Given the description of an element on the screen output the (x, y) to click on. 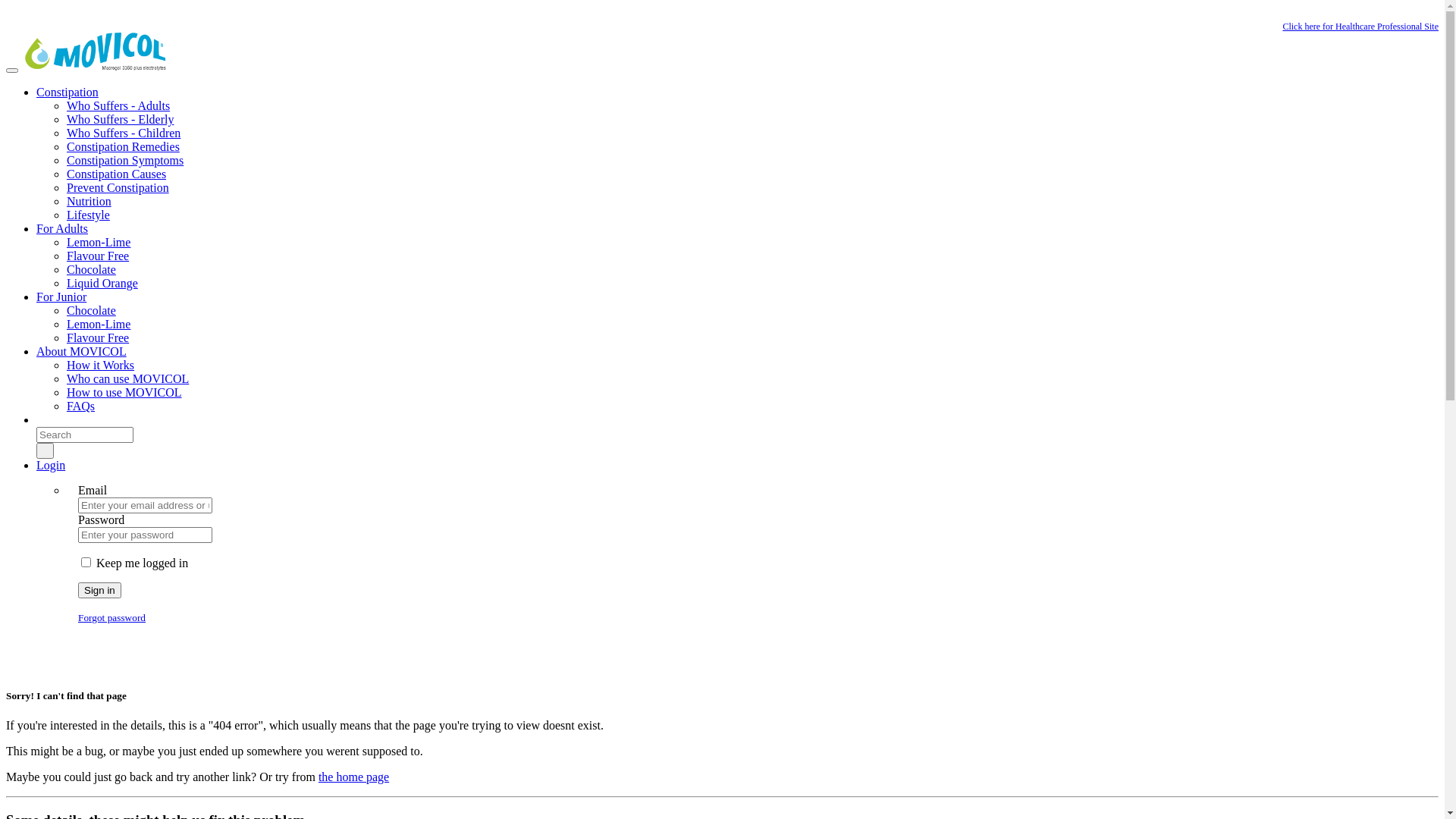
Lemon-Lime Element type: text (98, 323)
Enter your password Element type: hover (145, 534)
   Element type: text (44, 450)
Flavour Free Element type: text (97, 337)
Login Element type: text (50, 464)
About MOVICOL Element type: text (81, 351)
Constipation Causes Element type: text (116, 173)
Lemon-Lime Element type: text (98, 241)
the home page Element type: text (353, 776)
Who Suffers - Children Element type: text (123, 132)
Chocolate Element type: text (91, 310)
  Element type: text (37, 419)
Nutrition Element type: text (88, 200)
Flavour Free Element type: text (97, 255)
Forgot password Element type: text (111, 617)
Who Suffers - Elderly Element type: text (119, 118)
Liquid Orange Element type: text (102, 282)
Who can use MOVICOL Element type: text (127, 378)
For Junior Element type: text (61, 296)
Prevent Constipation Element type: text (117, 187)
How it Works Element type: text (100, 364)
Chocolate Element type: text (91, 269)
Sign in Element type: text (99, 590)
Constipation Remedies Element type: text (122, 146)
For Adults Element type: text (61, 228)
Lifestyle Element type: text (87, 214)
Click here for Healthcare Professional Site Element type: text (1360, 26)
FAQs Element type: text (80, 405)
How to use MOVICOL Element type: text (124, 391)
Constipation Symptoms Element type: text (124, 159)
Enter your email address or username Element type: hover (145, 505)
Constipation Element type: text (67, 91)
Who Suffers - Adults Element type: text (117, 105)
